Given the description of an element on the screen output the (x, y) to click on. 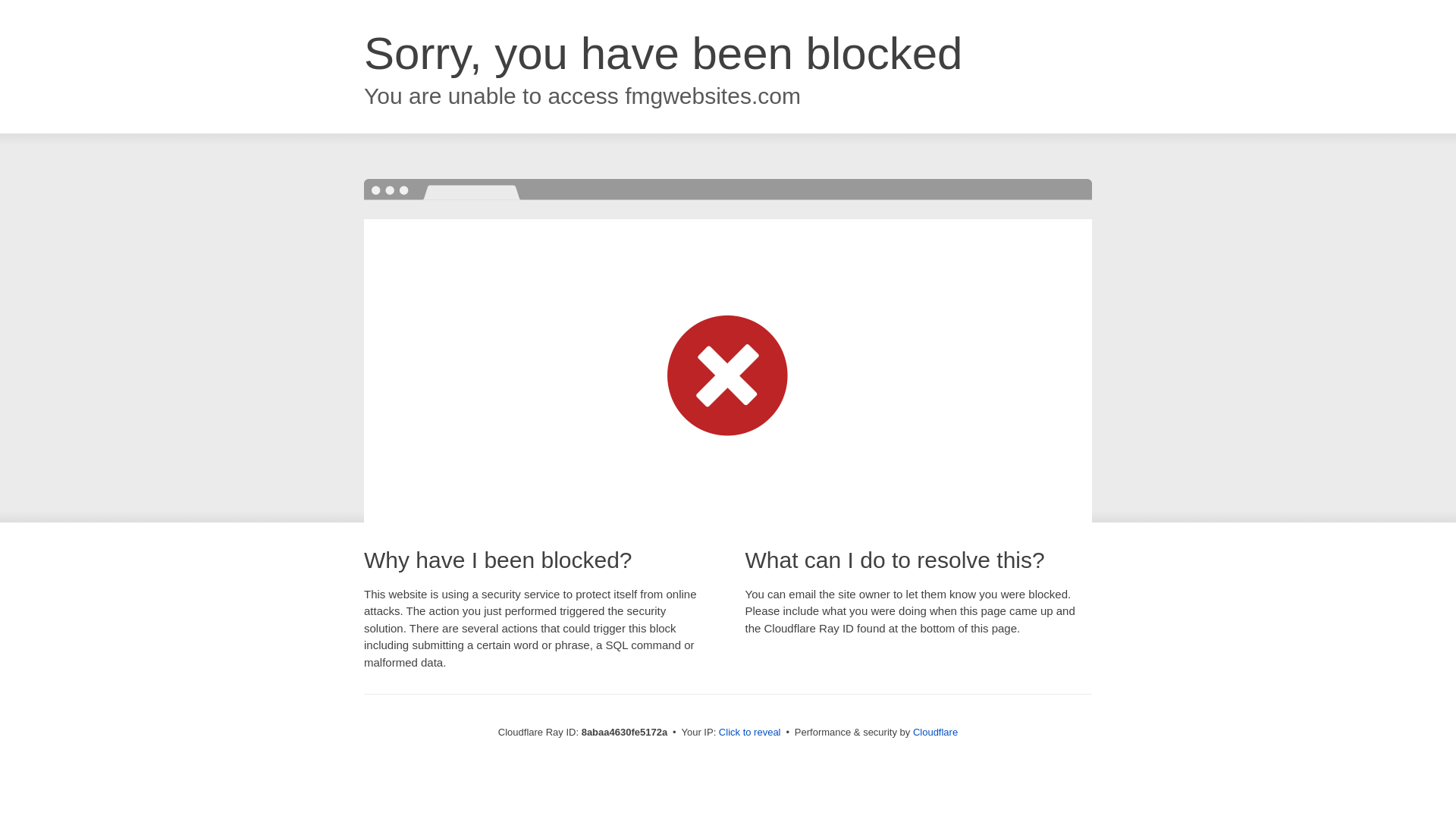
Click to reveal (749, 732)
Cloudflare (935, 731)
